Given the description of an element on the screen output the (x, y) to click on. 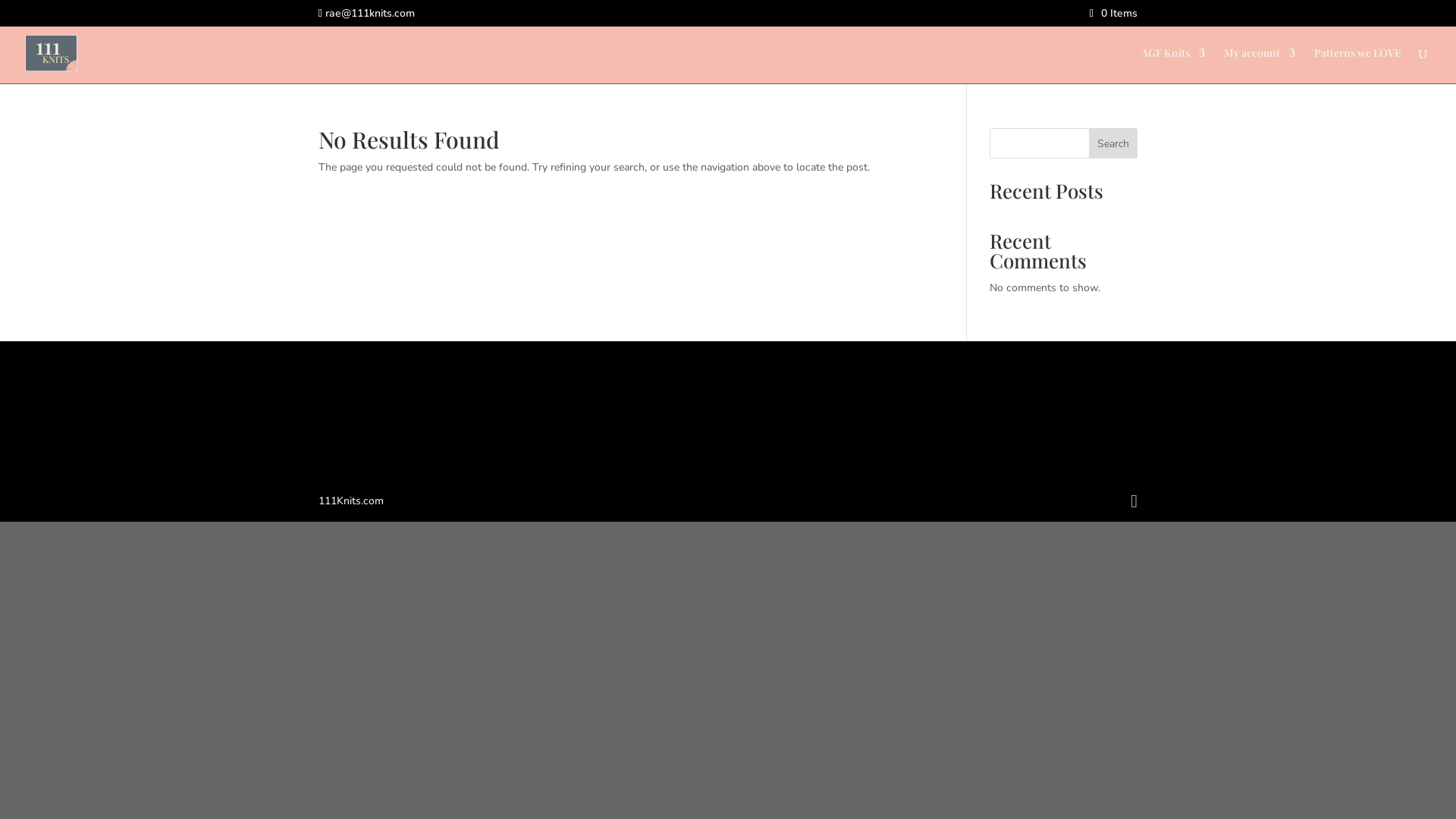
0 Items Element type: text (1113, 13)
Patterns we LOVE Element type: text (1357, 65)
Search Element type: text (1112, 143)
rae@111knits.com Element type: text (366, 13)
AGF Knits Element type: text (1172, 65)
My account Element type: text (1259, 65)
